Given the description of an element on the screen output the (x, y) to click on. 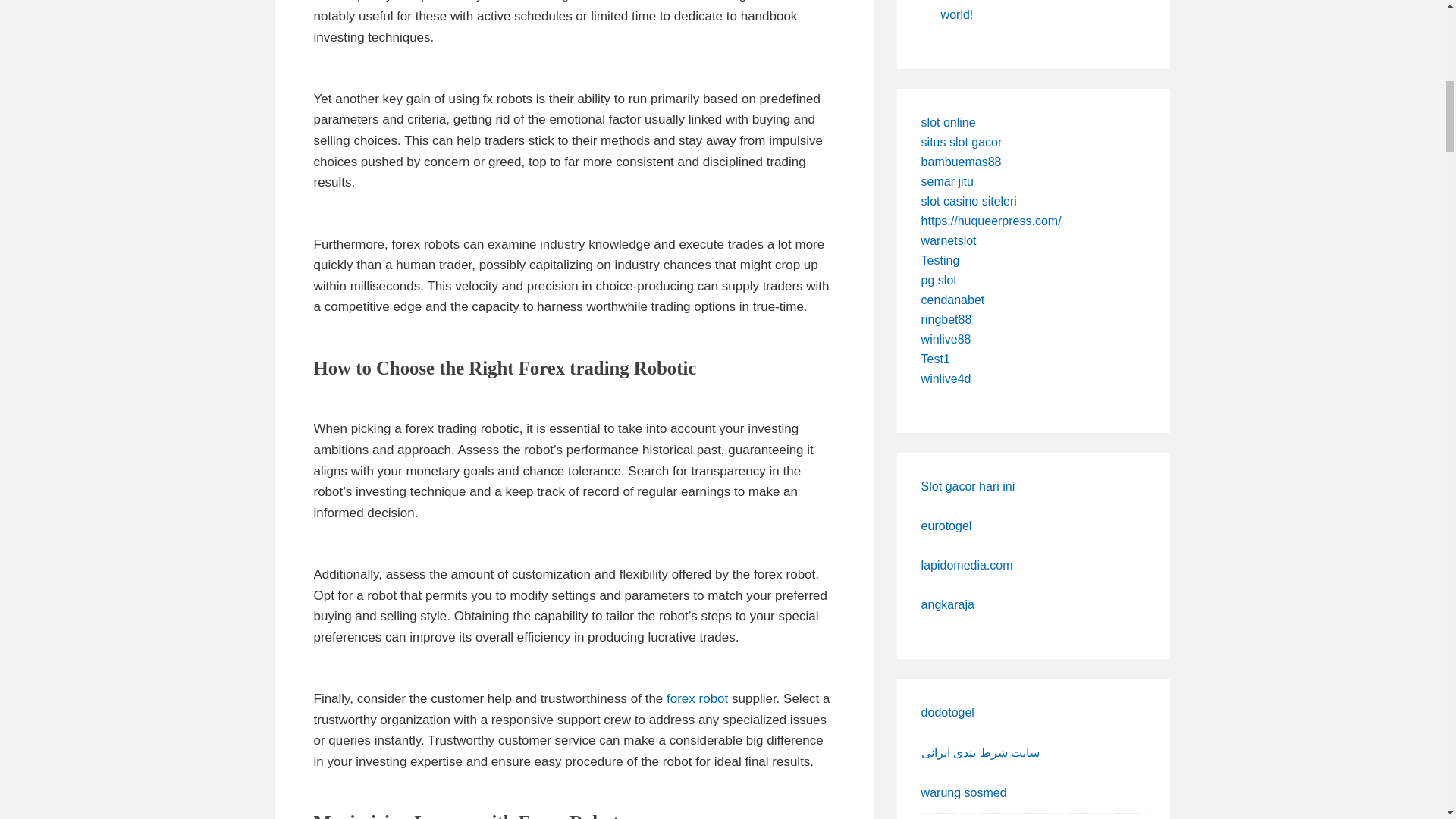
forex robot (697, 698)
slot online (948, 122)
bambuemas88 (961, 161)
semar jitu (947, 181)
A WordPress Commenter (1009, 0)
ringbet88 (946, 318)
winlive4d (946, 378)
winlive88 (946, 338)
pg slot (938, 279)
Hello world! (1032, 10)
